Given the description of an element on the screen output the (x, y) to click on. 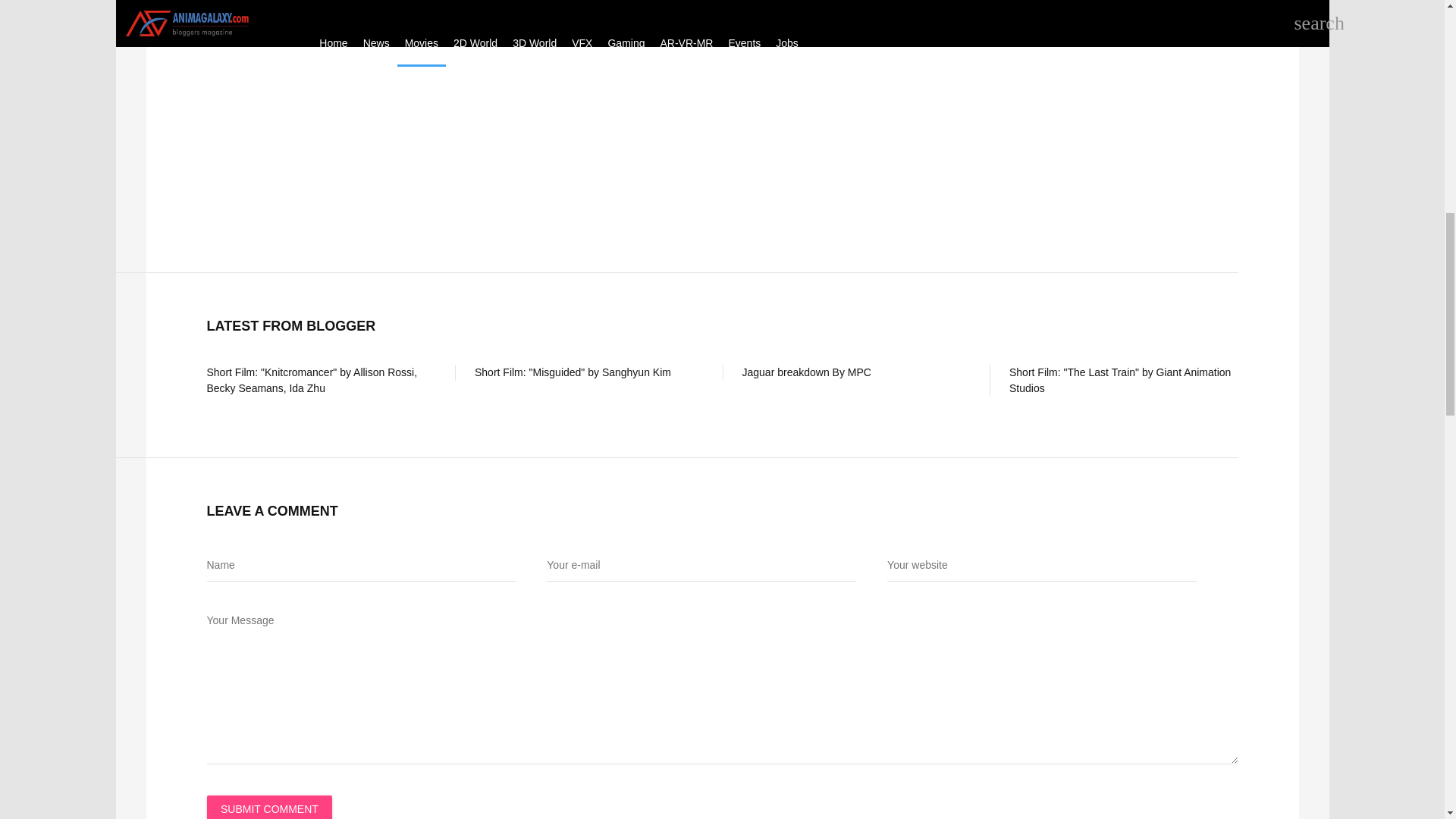
Name (360, 565)
Your e-mail (701, 565)
Short Film: "The Last Train" by Giant Animation Studios (1119, 379)
Jaguar breakdown By MPC (805, 372)
Short Film: "Misguided" by Sanghyun Kim (572, 372)
Your website (1041, 565)
Submit comment (268, 807)
Submit comment (268, 807)
